Given the description of an element on the screen output the (x, y) to click on. 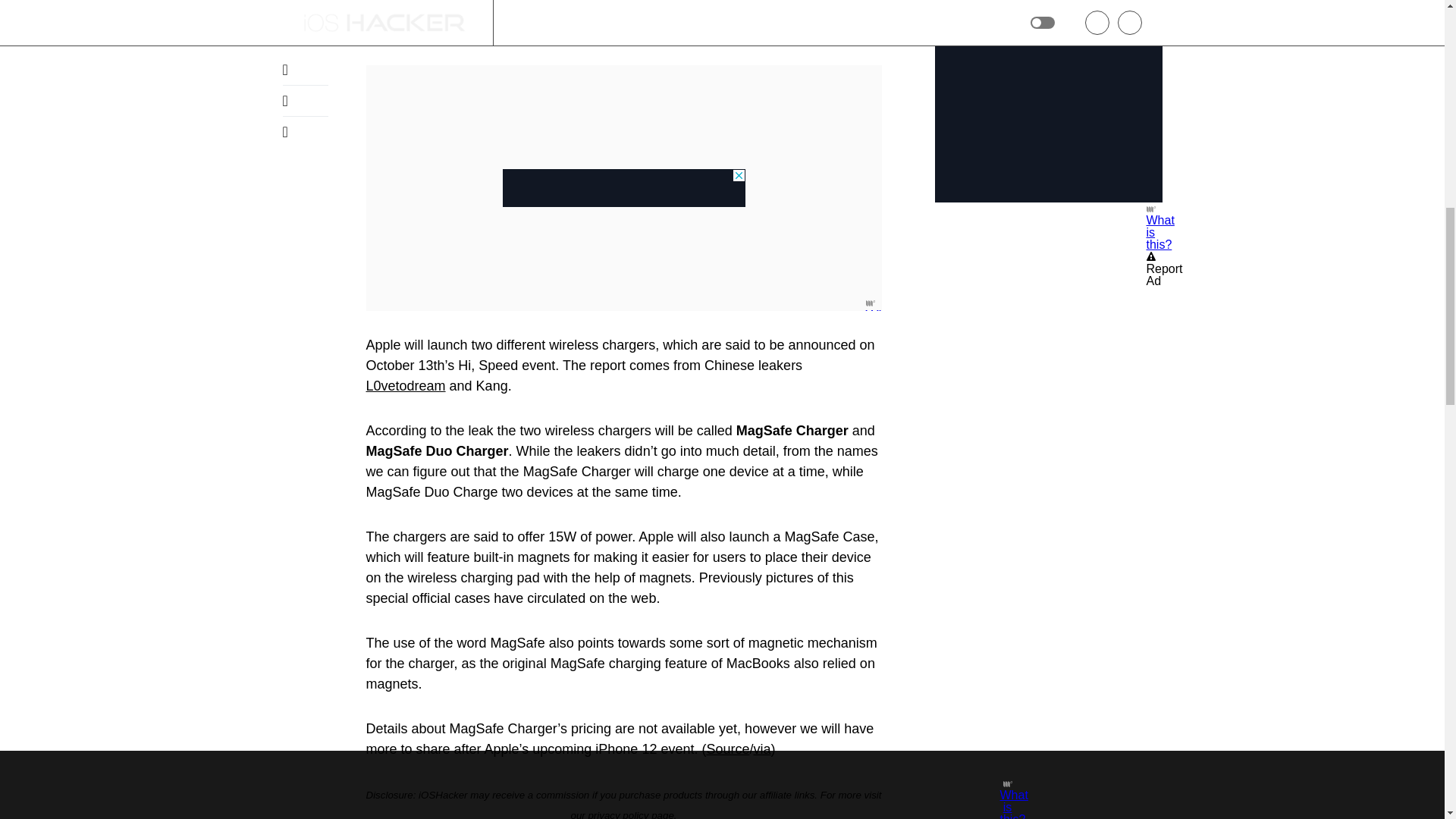
3rd party ad content (623, 187)
3rd party ad content (1047, 107)
